Given the description of an element on the screen output the (x, y) to click on. 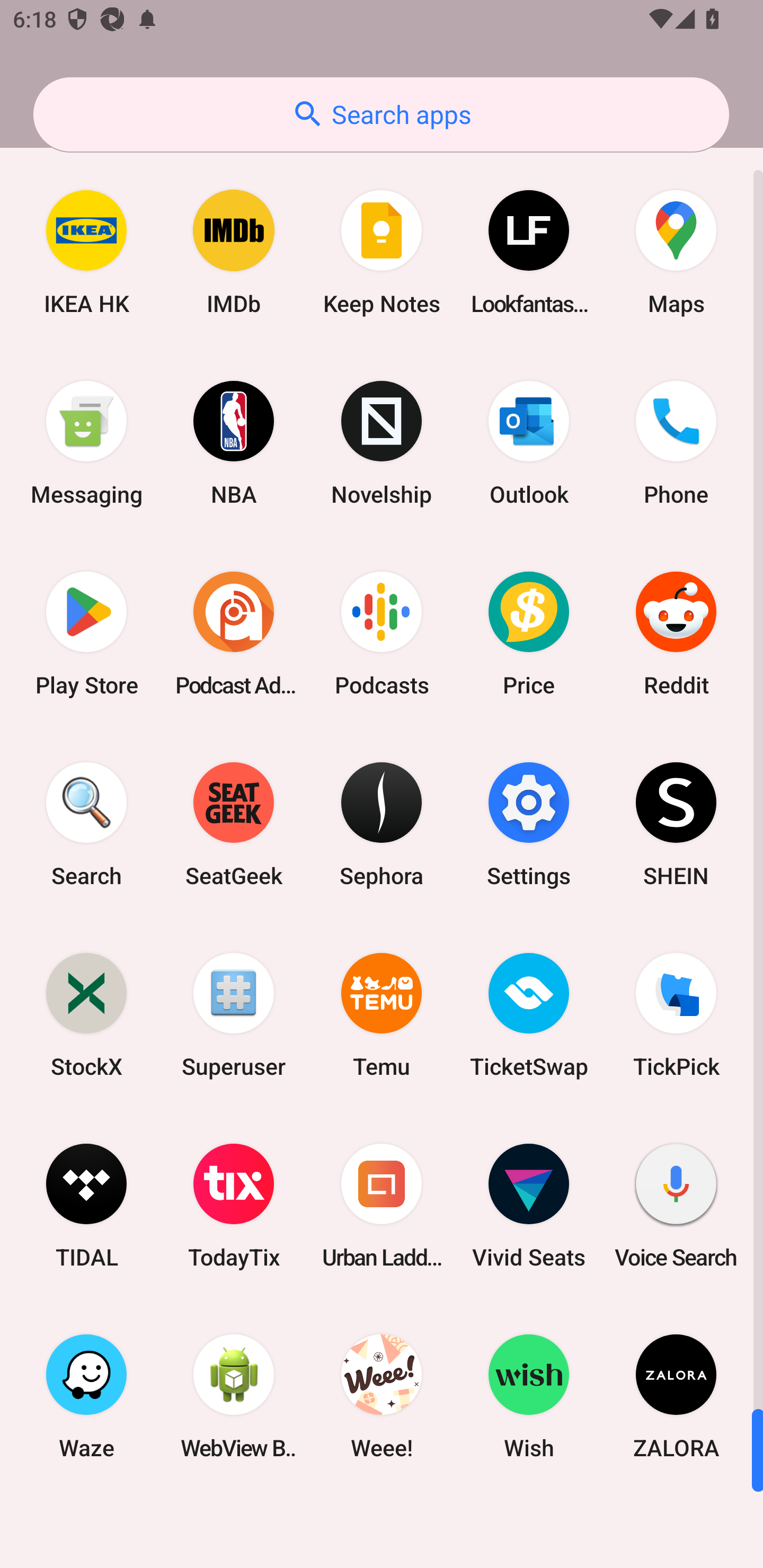
  Search apps (381, 114)
IKEA HK (86, 252)
IMDb (233, 252)
Keep Notes (381, 252)
Lookfantastic (528, 252)
Maps (676, 252)
Messaging (86, 442)
NBA (233, 442)
Novelship (381, 442)
Outlook (528, 442)
Phone (676, 442)
Play Store (86, 633)
Podcast Addict (233, 633)
Podcasts (381, 633)
Price (528, 633)
Reddit (676, 633)
Search (86, 823)
SeatGeek (233, 823)
Sephora (381, 823)
Settings (528, 823)
SHEIN (676, 823)
StockX (86, 1014)
Superuser (233, 1014)
Temu (381, 1014)
TicketSwap (528, 1014)
TickPick (676, 1014)
TIDAL (86, 1205)
TodayTix (233, 1205)
Urban Ladder (381, 1205)
Vivid Seats (528, 1205)
Voice Search (676, 1205)
Waze (86, 1396)
WebView Browser Tester (233, 1396)
Weee! (381, 1396)
Wish (528, 1396)
ZALORA (676, 1396)
